Given the description of an element on the screen output the (x, y) to click on. 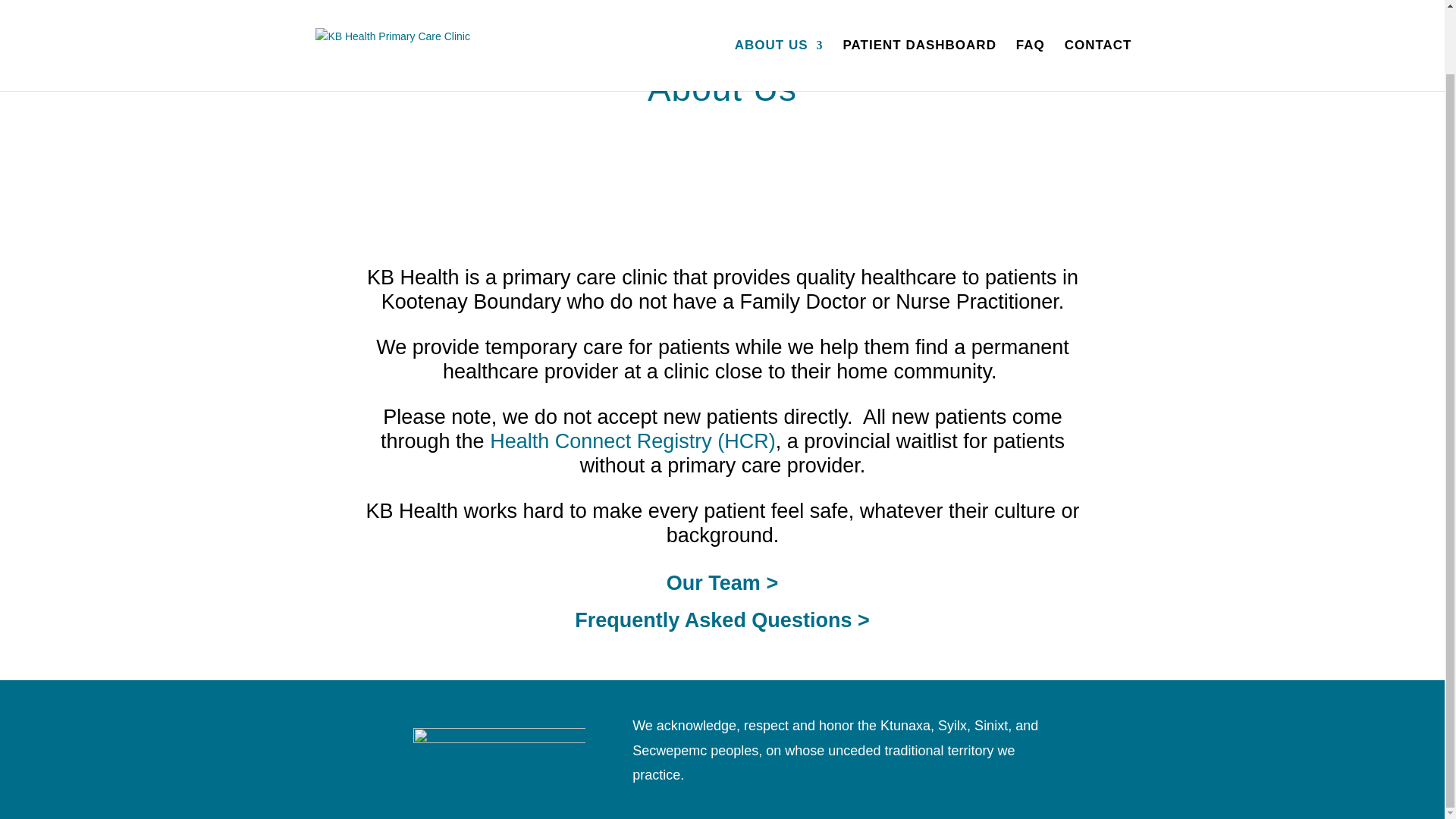
PATIENT DASHBOARD (919, 10)
FAQ (1030, 10)
kbhealth logo v3 Reverse KBHEALTH ONLY (499, 749)
CONTACT (1098, 10)
ABOUT US (779, 10)
